Given the description of an element on the screen output the (x, y) to click on. 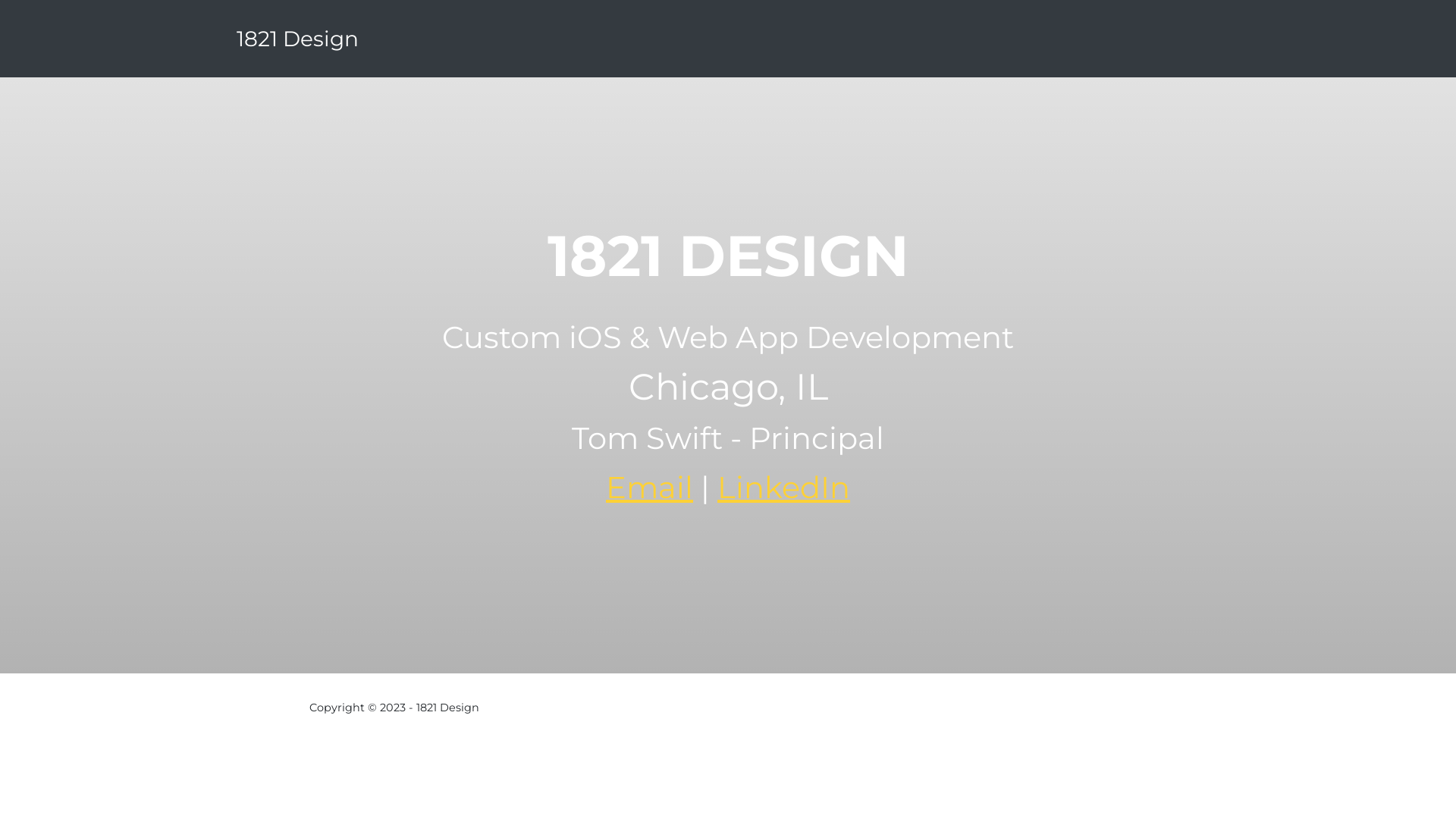
1821 Design Element type: text (297, 38)
Email Element type: text (649, 486)
LinkedIn Element type: text (783, 486)
